Given the description of an element on the screen output the (x, y) to click on. 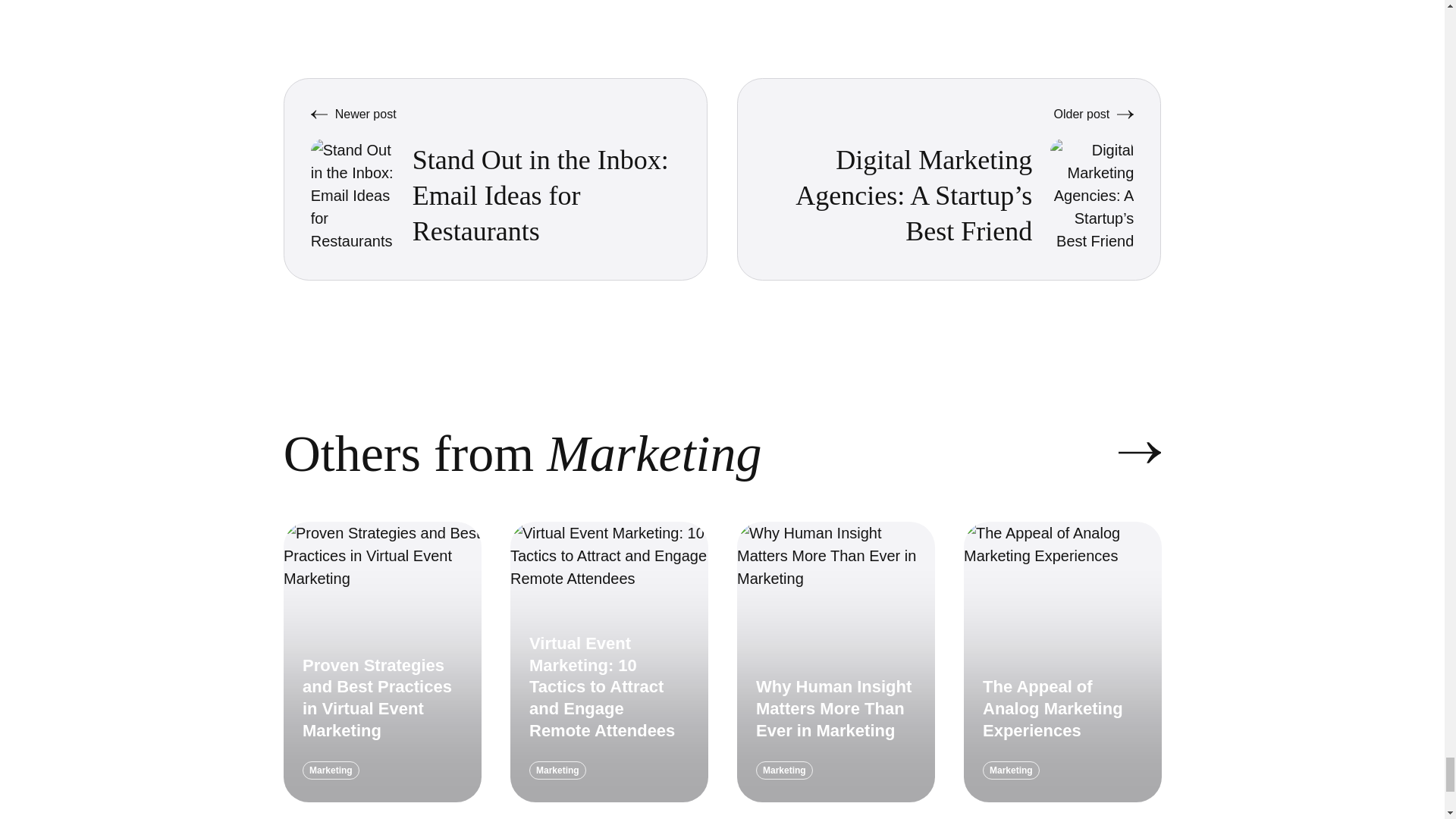
Marketing (330, 770)
Why Human Insight Matters More Than Ever in Marketing (833, 708)
Marketing (1010, 770)
Marketing (783, 770)
The Appeal of Analog Marketing Experiences (1052, 708)
Marketing (557, 770)
Stand Out in the Inbox: Email Ideas for Restaurants (540, 195)
